Given the description of an element on the screen output the (x, y) to click on. 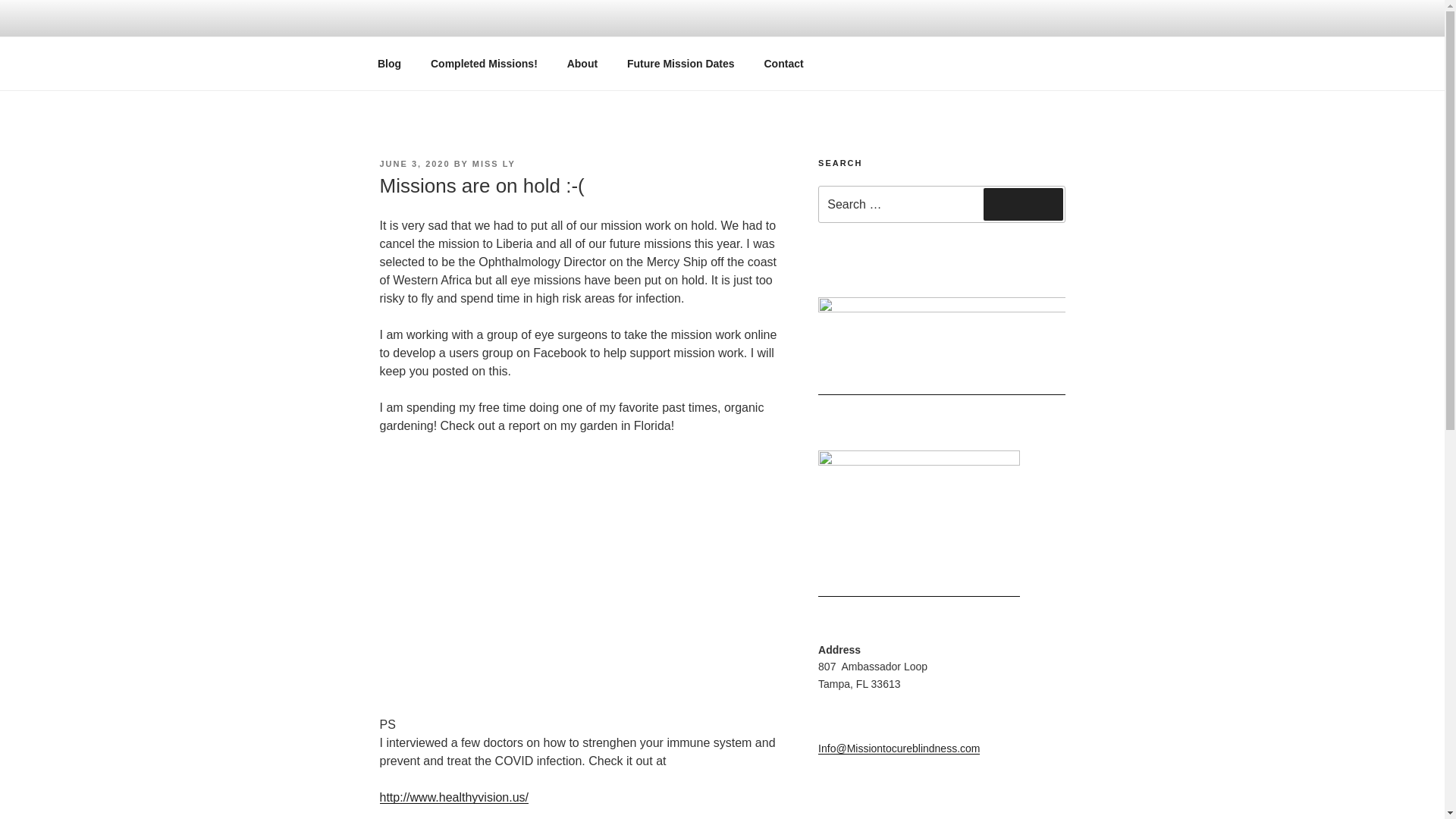
Search (1023, 204)
Blog (388, 63)
About (581, 63)
JUNE 3, 2020 (413, 163)
Contact (783, 63)
Completed Missions! (483, 63)
Future Mission Dates (681, 63)
MISS LY (493, 163)
